Given the description of an element on the screen output the (x, y) to click on. 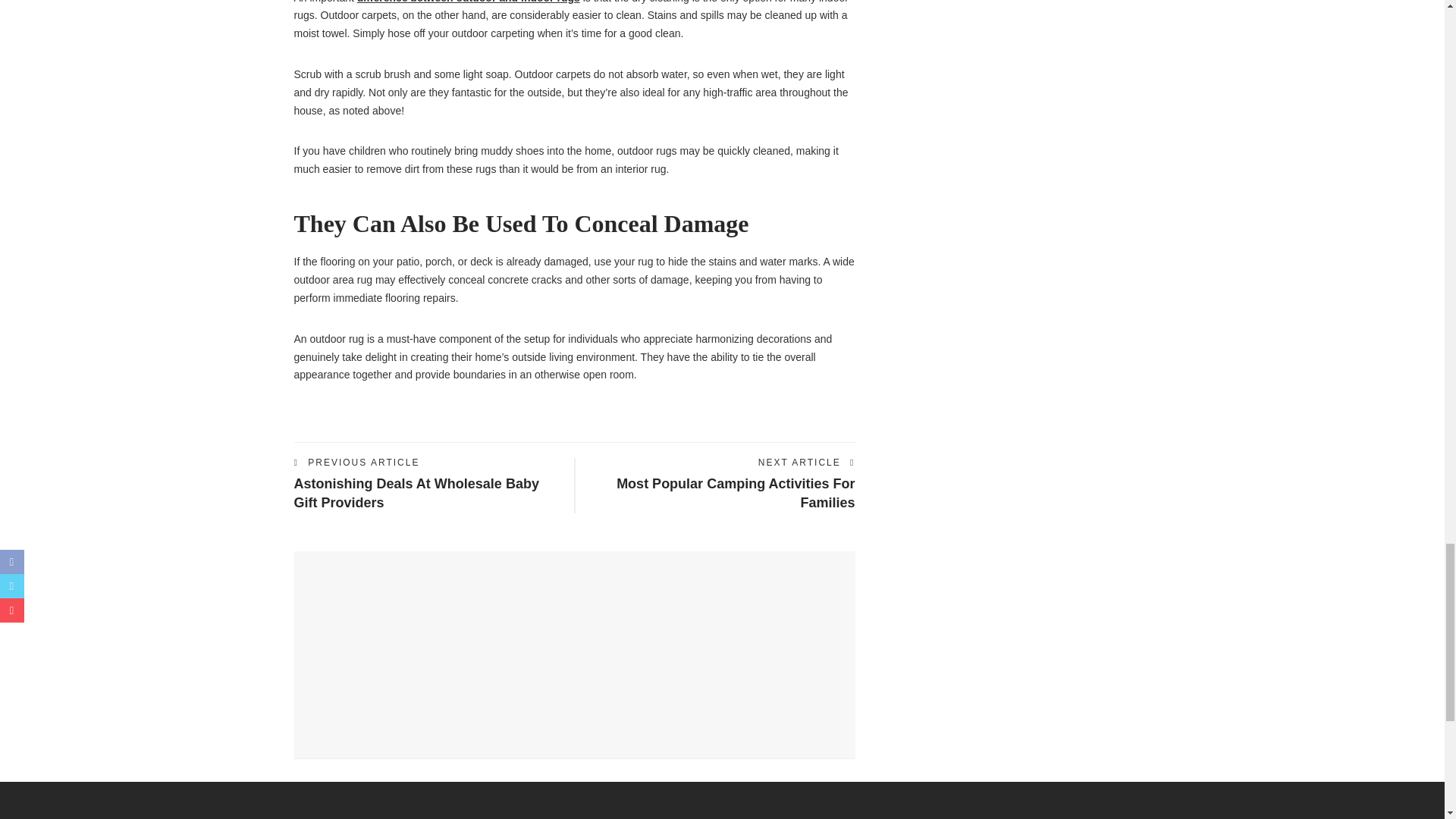
Astonishing Deals At Wholesale Baby Gift Providers (416, 492)
difference between outdoor and indoor rugs (467, 2)
Most Popular Camping Activities for Families (734, 492)
Astonishing Deals At Wholesale Baby Gift Providers (416, 492)
